Given the description of an element on the screen output the (x, y) to click on. 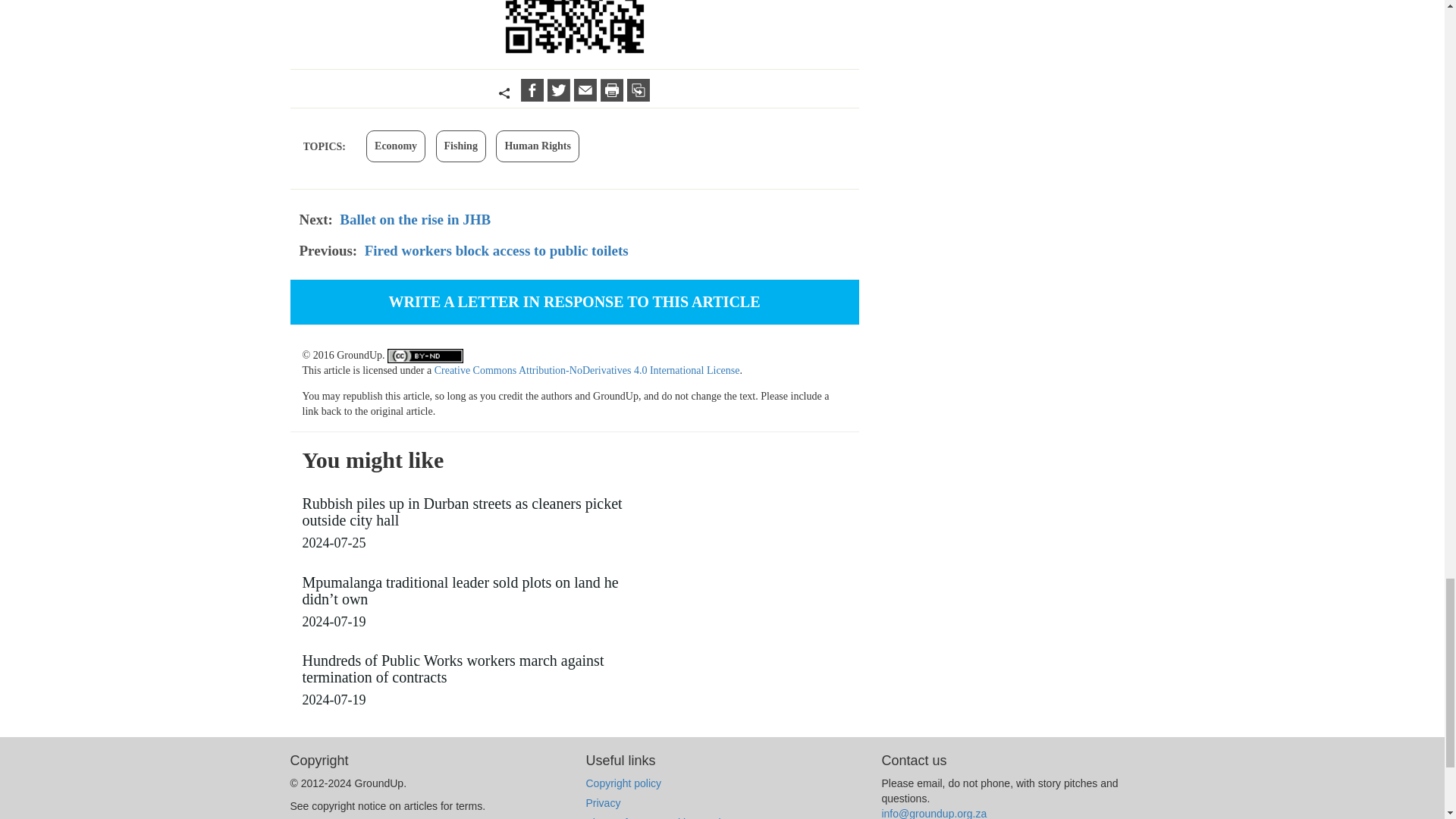
Republish this article (638, 96)
Email (586, 96)
Economy (395, 146)
Share on Twitter (560, 96)
Fishing (460, 146)
Share on Facebook (534, 96)
Print (613, 96)
